Given the description of an element on the screen output the (x, y) to click on. 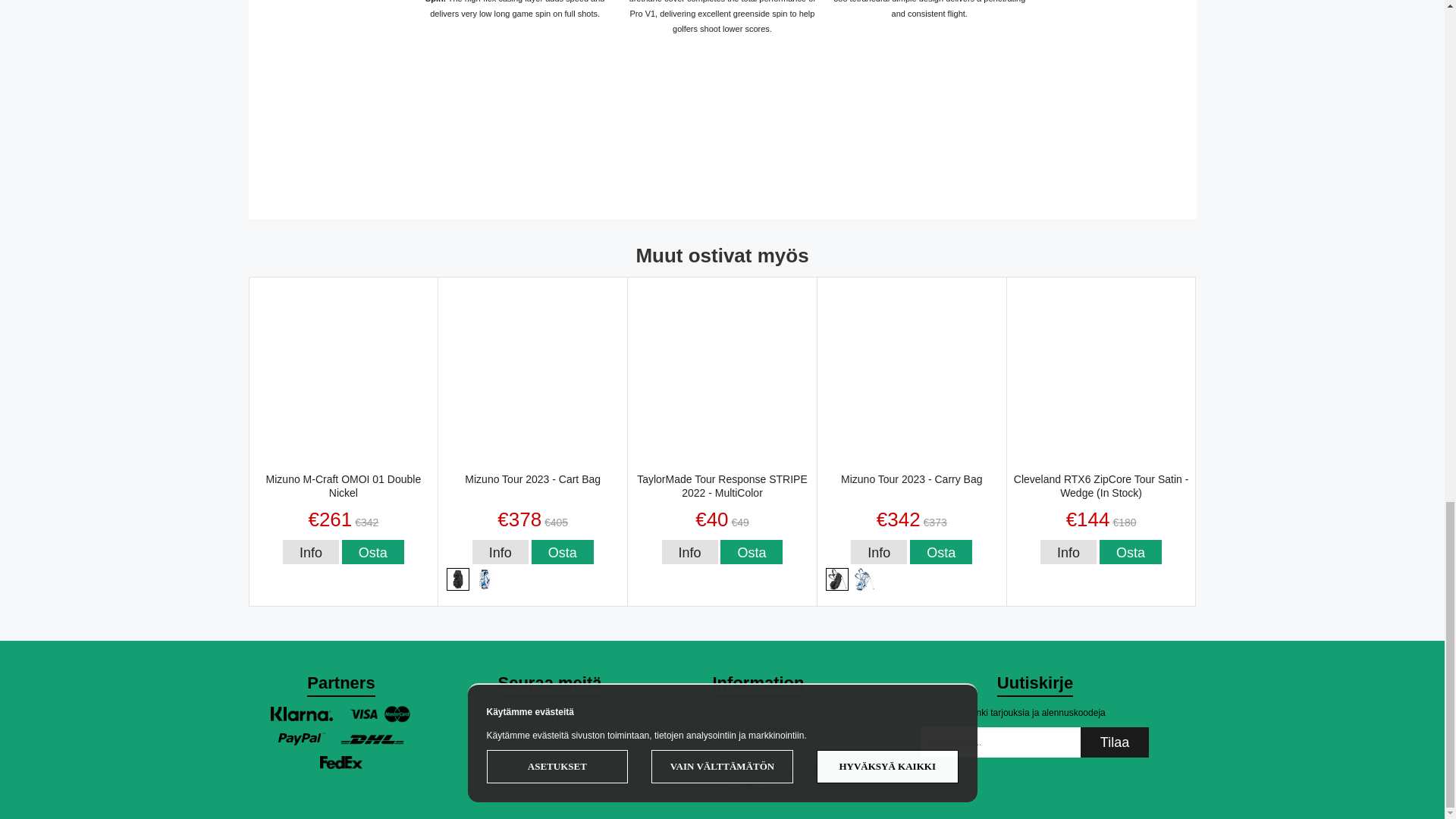
Mizuno Tour 2023- Carry Bag (837, 578)
Mizuno Tour 2023 - Cart Bag (457, 578)
Mizuno Tour 2023 - Carry Bag (878, 552)
TaylorMade Tour Response STRIPE 2022 - MultiColor (689, 552)
Mizuno Tour 2023 - Cart Bag (499, 552)
Mizuno Tour 2023- Carry Bag (863, 578)
Mizuno M-Craft OMOI 01 Double Nickel (310, 552)
Mizuno Tour 2023 - Cart Bag (484, 578)
